Given the description of an element on the screen output the (x, y) to click on. 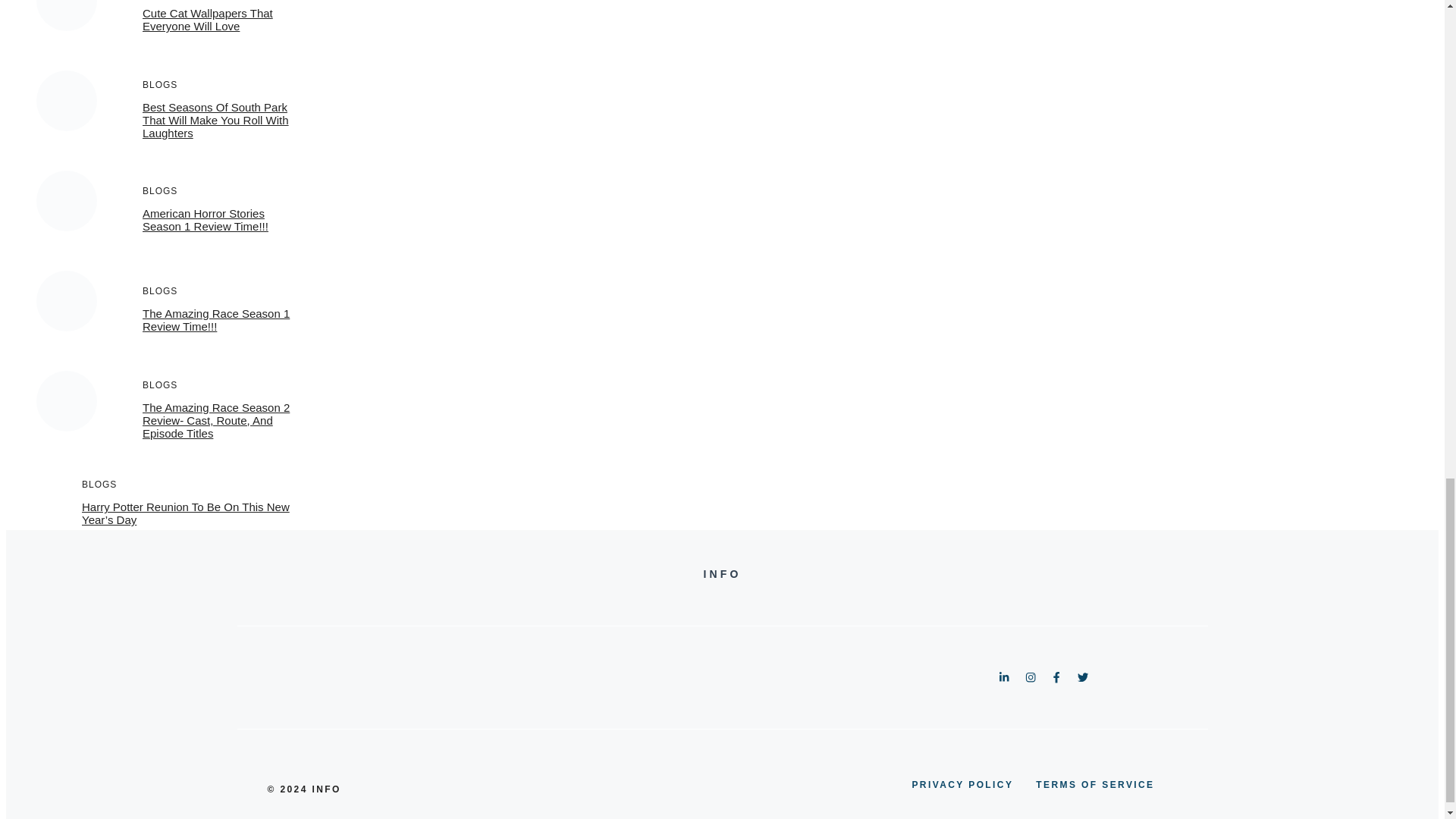
Cute Cat Wallpapers That Everyone Will Love (207, 19)
TERMS OF SERVICE (1094, 784)
American Horror Stories Season 1 Review Time!!! (204, 219)
PRIVACY POLICY (962, 784)
The Amazing Race Season 1 Review Time!!! (215, 319)
